Given the description of an element on the screen output the (x, y) to click on. 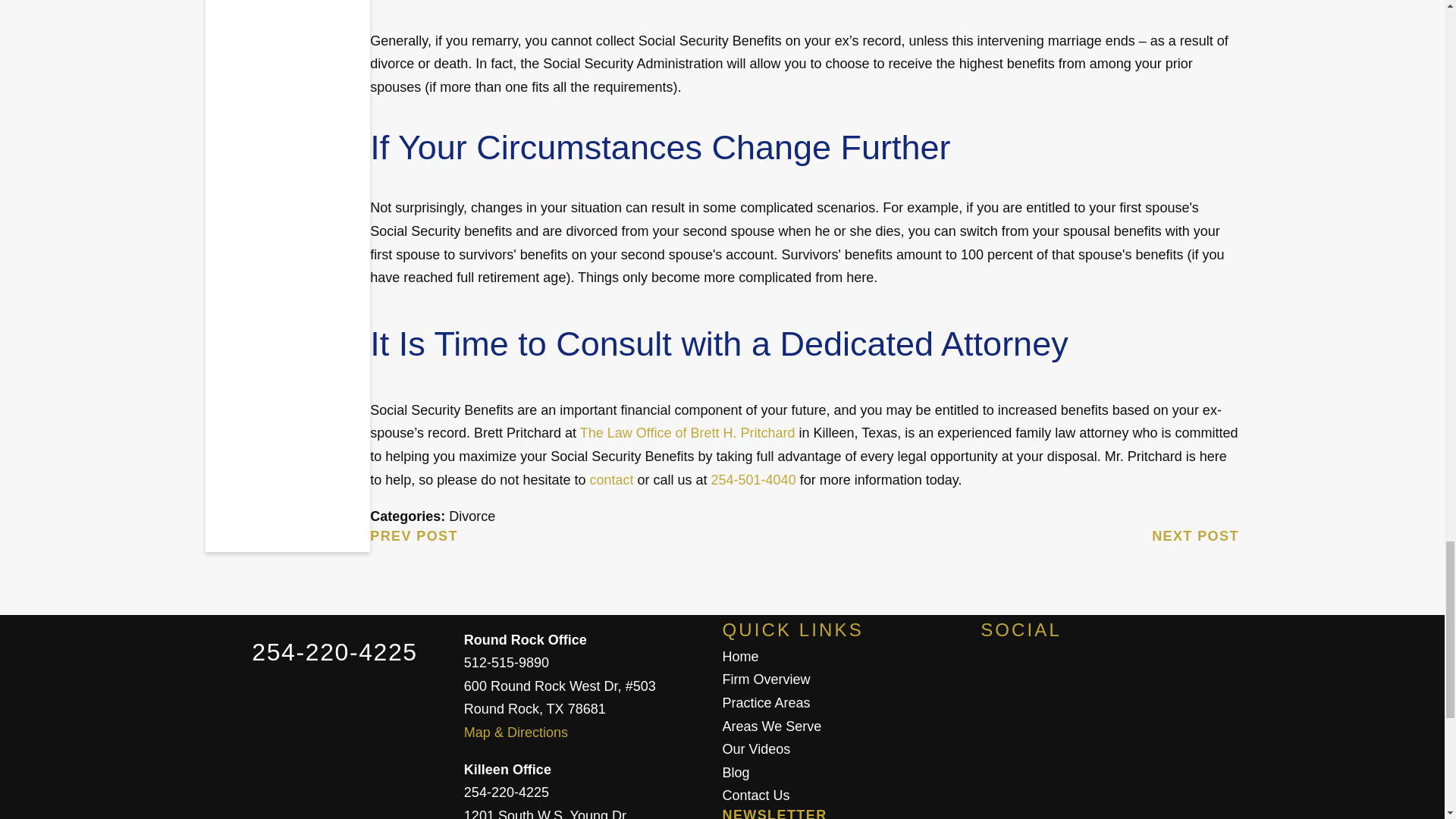
LinkedIn (1205, 676)
Instagram (1141, 676)
Avvo (1076, 676)
Facebook (1012, 676)
